Given the description of an element on the screen output the (x, y) to click on. 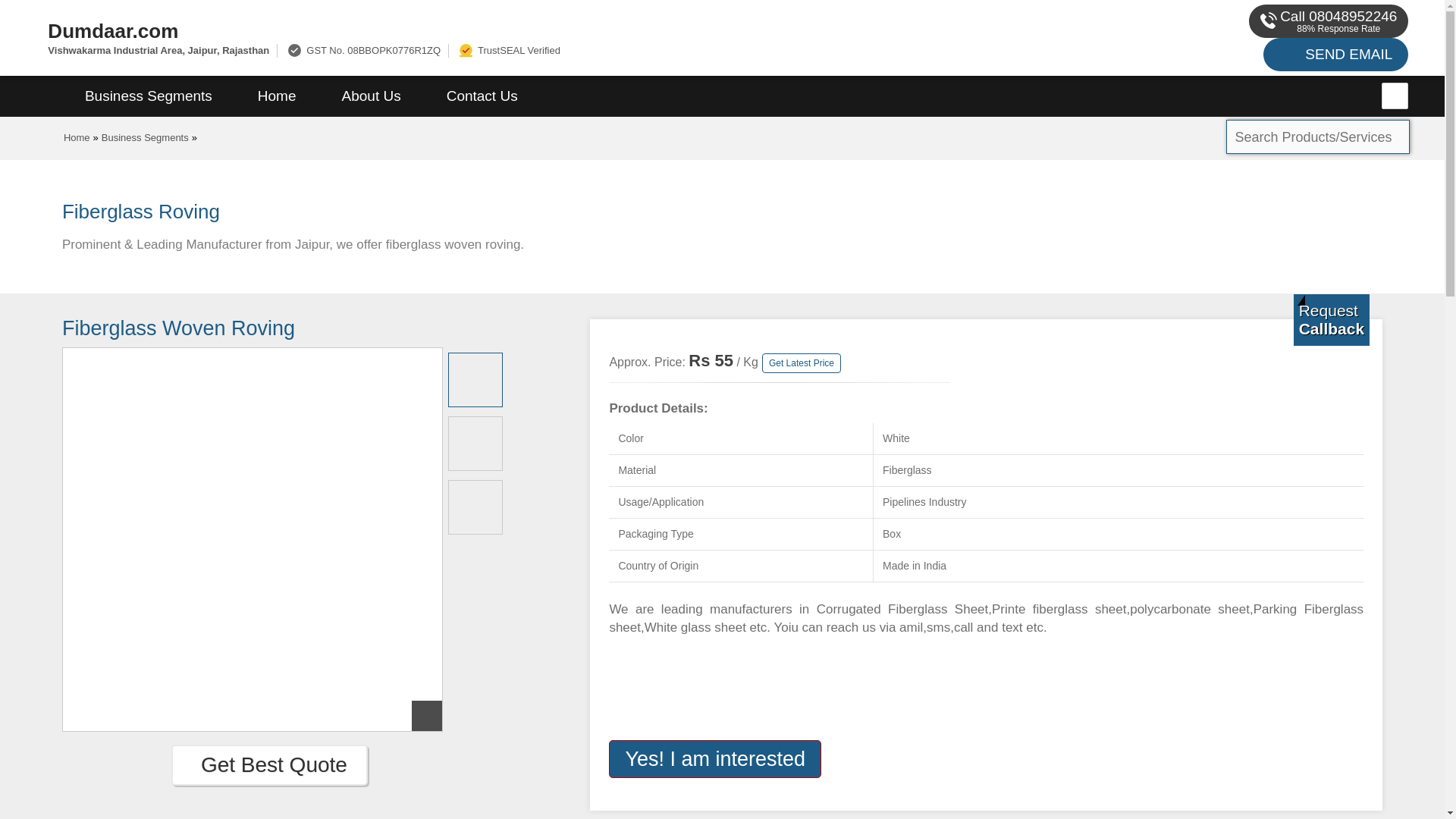
About Us (370, 96)
Home (77, 137)
Business Segments (148, 96)
Home (276, 96)
Business Segments (145, 137)
Contact Us (481, 96)
Get a Call from us (1332, 319)
Dumdaar.com (485, 31)
